Given the description of an element on the screen output the (x, y) to click on. 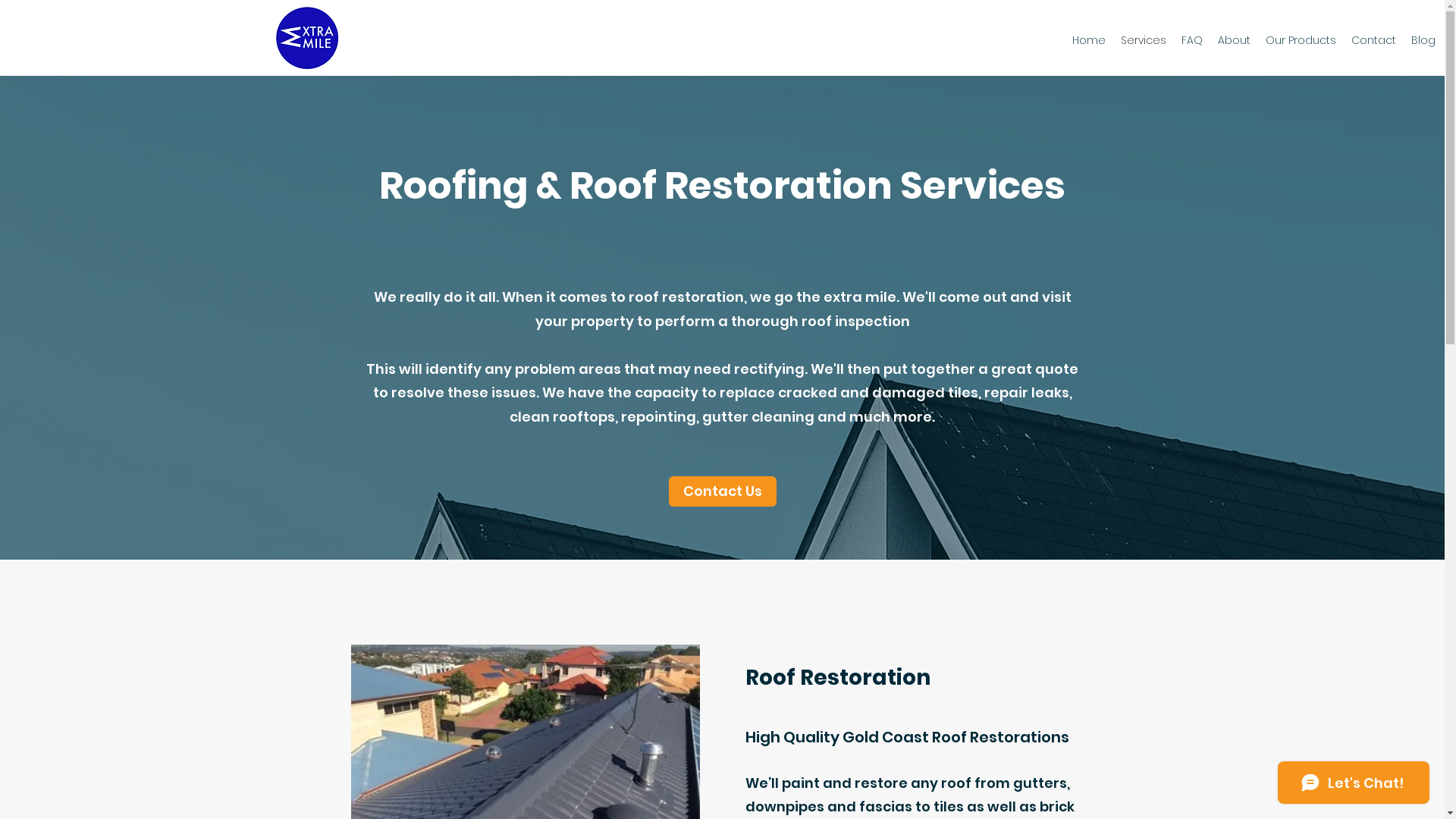
Our Products Element type: text (1300, 39)
FAQ Element type: text (1191, 39)
Blog Element type: text (1423, 39)
Home Element type: text (1088, 39)
Contact Us Element type: text (722, 491)
About Element type: text (1234, 39)
Services Element type: text (1143, 39)
Contact Element type: text (1373, 39)
